Given the description of an element on the screen output the (x, y) to click on. 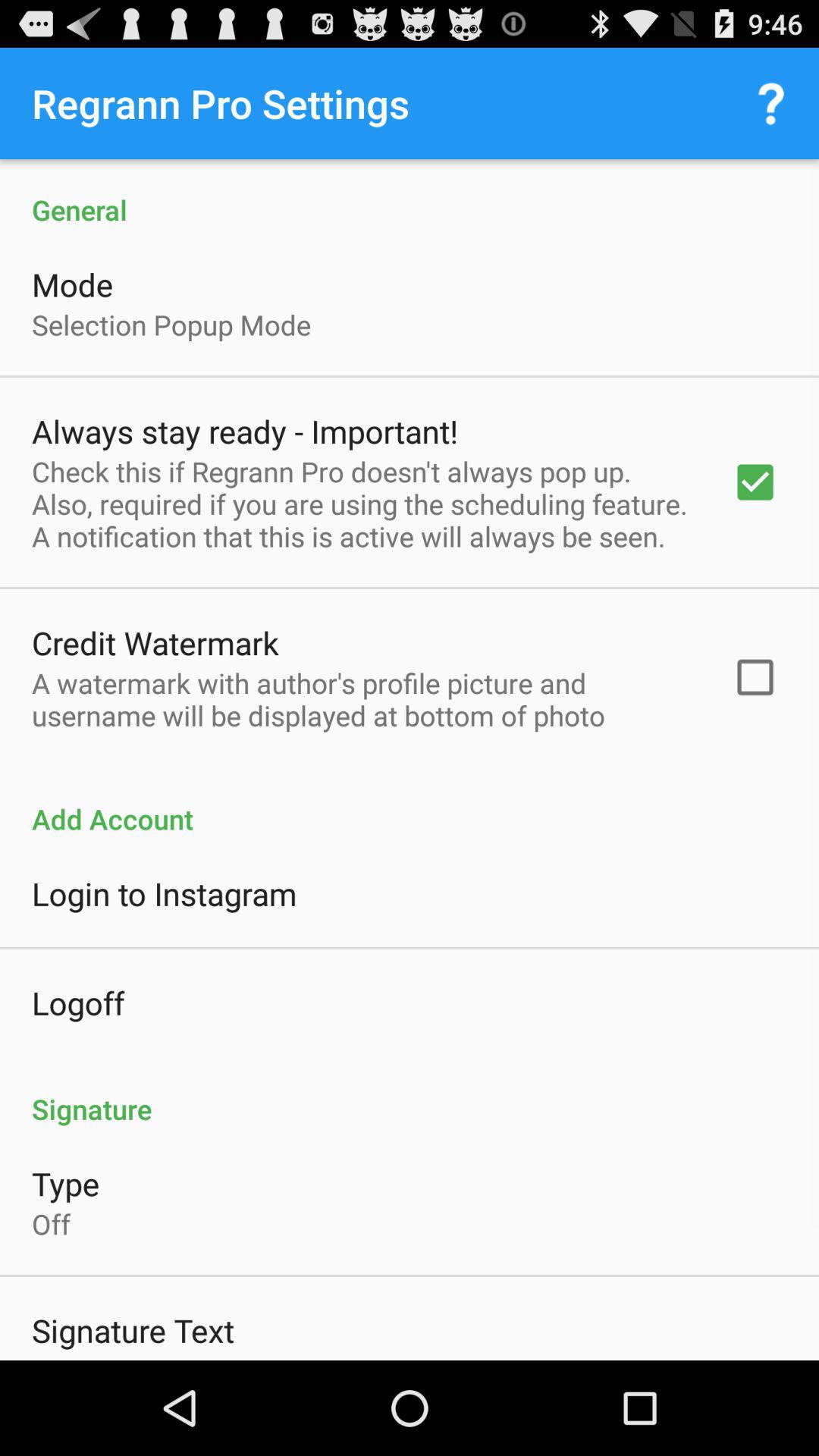
turn off general icon (409, 193)
